Given the description of an element on the screen output the (x, y) to click on. 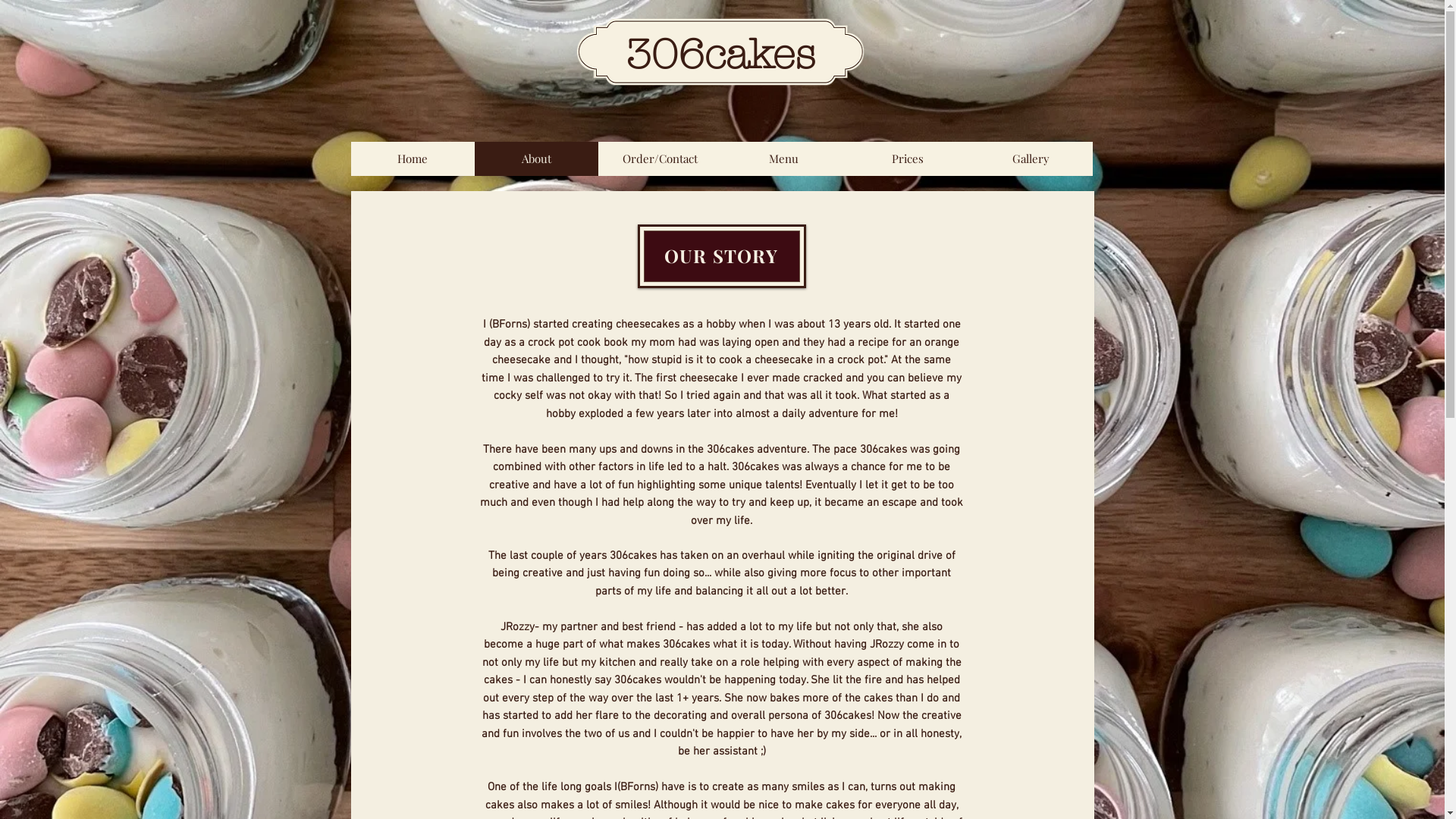
Prices Element type: text (906, 158)
Home Element type: text (411, 158)
About Element type: text (536, 158)
Gallery Element type: text (1030, 158)
306cakes Element type: text (719, 54)
Order/Contact Element type: text (659, 158)
Menu Element type: text (783, 158)
